Given the description of an element on the screen output the (x, y) to click on. 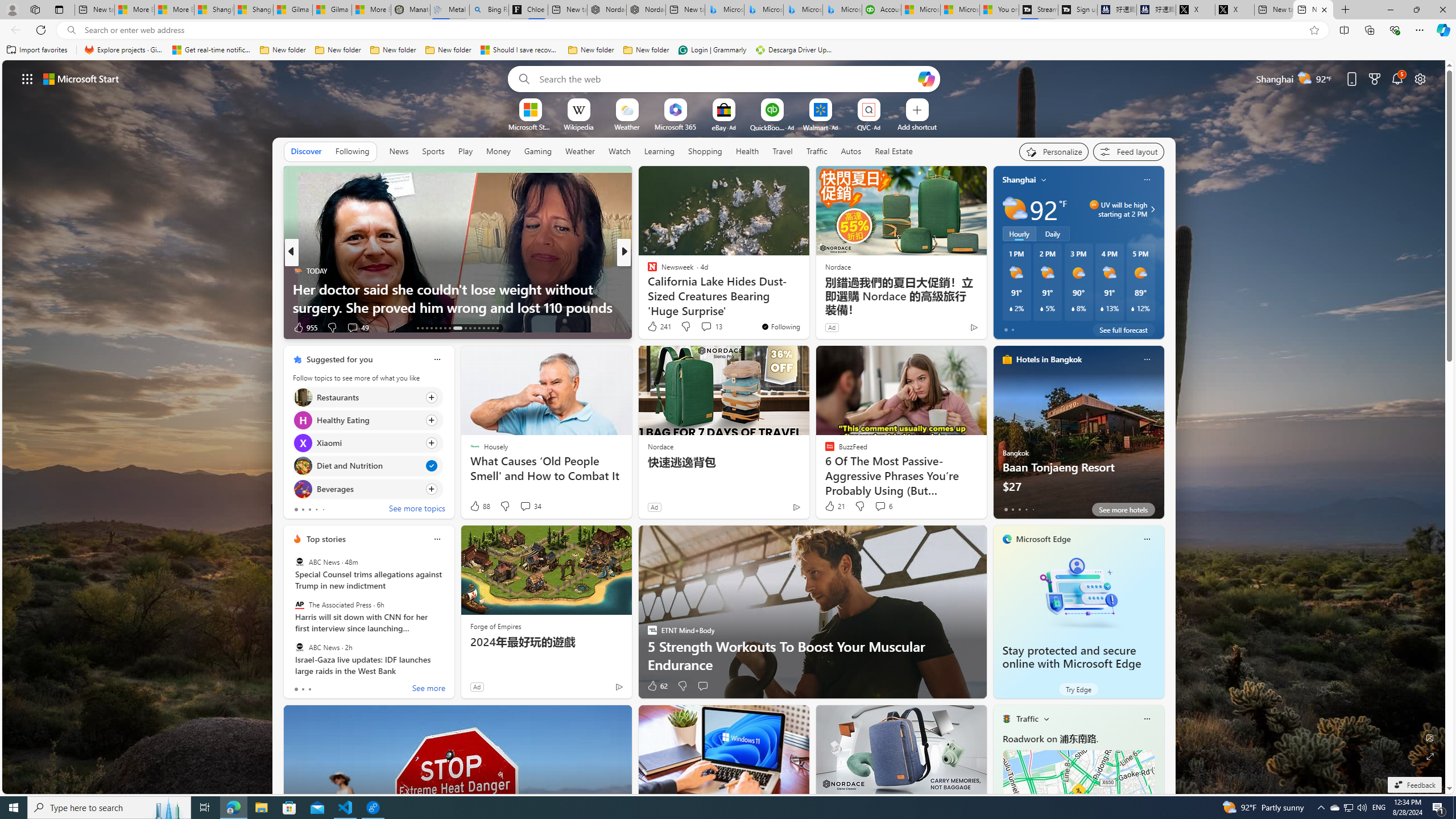
View comments 405 Comment (6, 327)
AutomationID: tab-19 (444, 328)
View comments 102 Comment (6, 327)
Shanghai, China weather forecast | Microsoft Weather (253, 9)
Nordace - #1 Japanese Best-Seller - Siena Smart Backpack (646, 9)
2 Like (651, 327)
88 Like (479, 505)
ABC News (299, 646)
View comments 49 Comment (352, 327)
The Associated Press (299, 604)
